Given the description of an element on the screen output the (x, y) to click on. 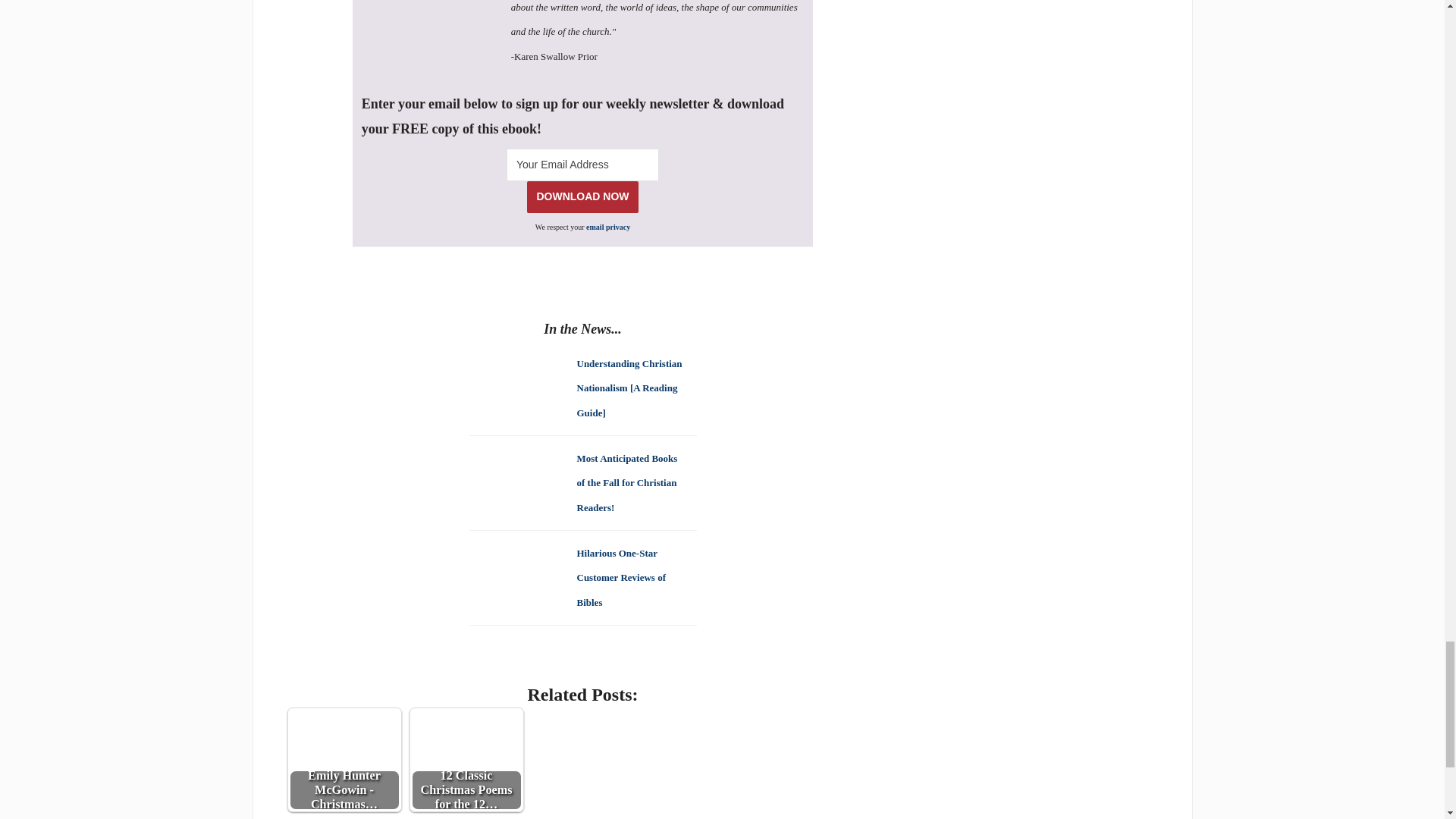
Most Anticipated Books of the Fall for Christian Readers! (626, 481)
12 Classic Christmas Poems for the 12 Days of Christmas!!! (465, 759)
Privacy Policy (608, 226)
Hilarious One-Star Customer Reviews of Bibles (620, 576)
Your Email Address (582, 164)
DOWNLOAD NOW (582, 196)
email privacy (608, 226)
DOWNLOAD NOW (582, 196)
